Given the description of an element on the screen output the (x, y) to click on. 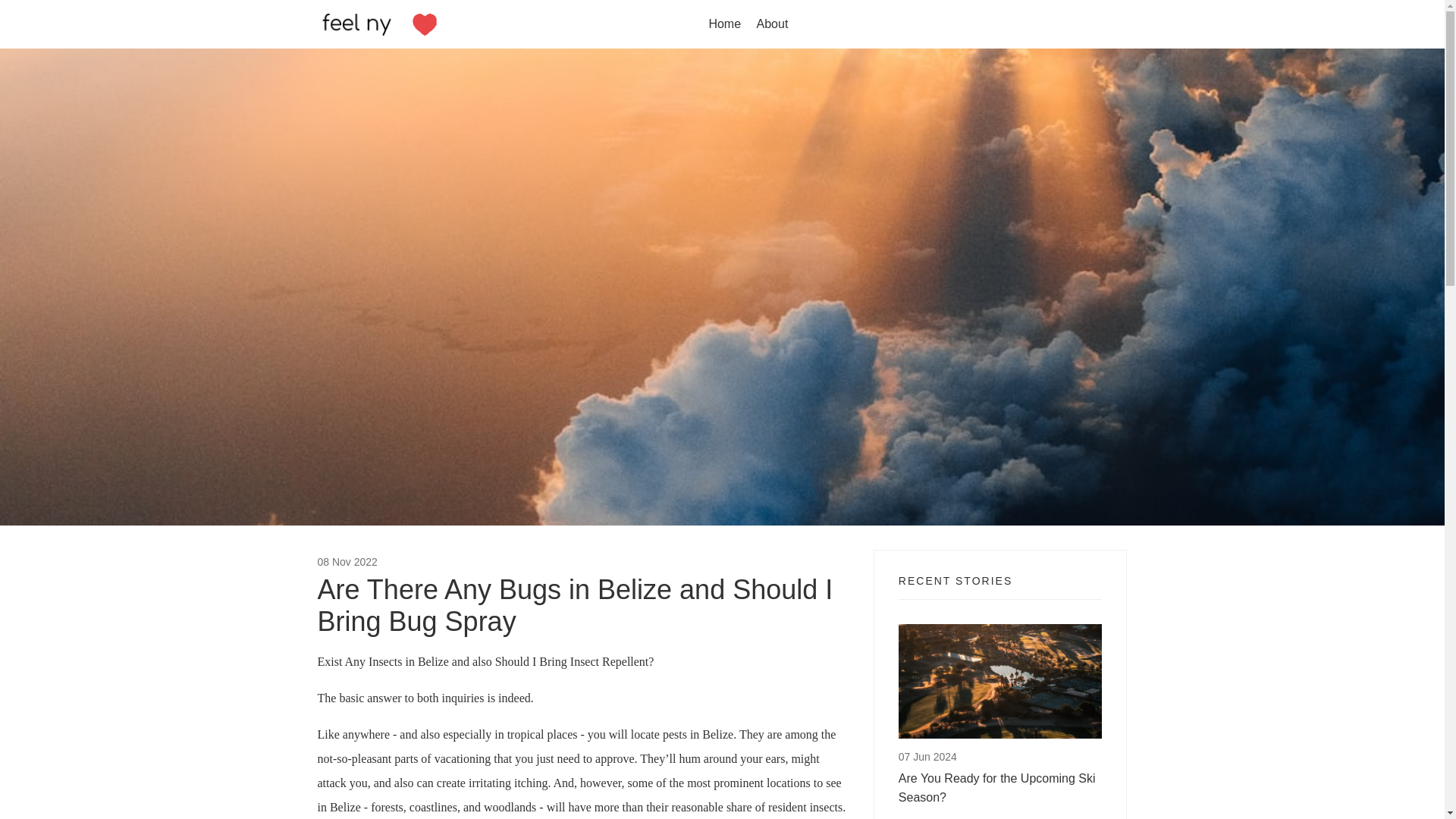
About (773, 24)
Are You Ready for the Upcoming Ski Season? (1000, 787)
Home (724, 24)
